Given the description of an element on the screen output the (x, y) to click on. 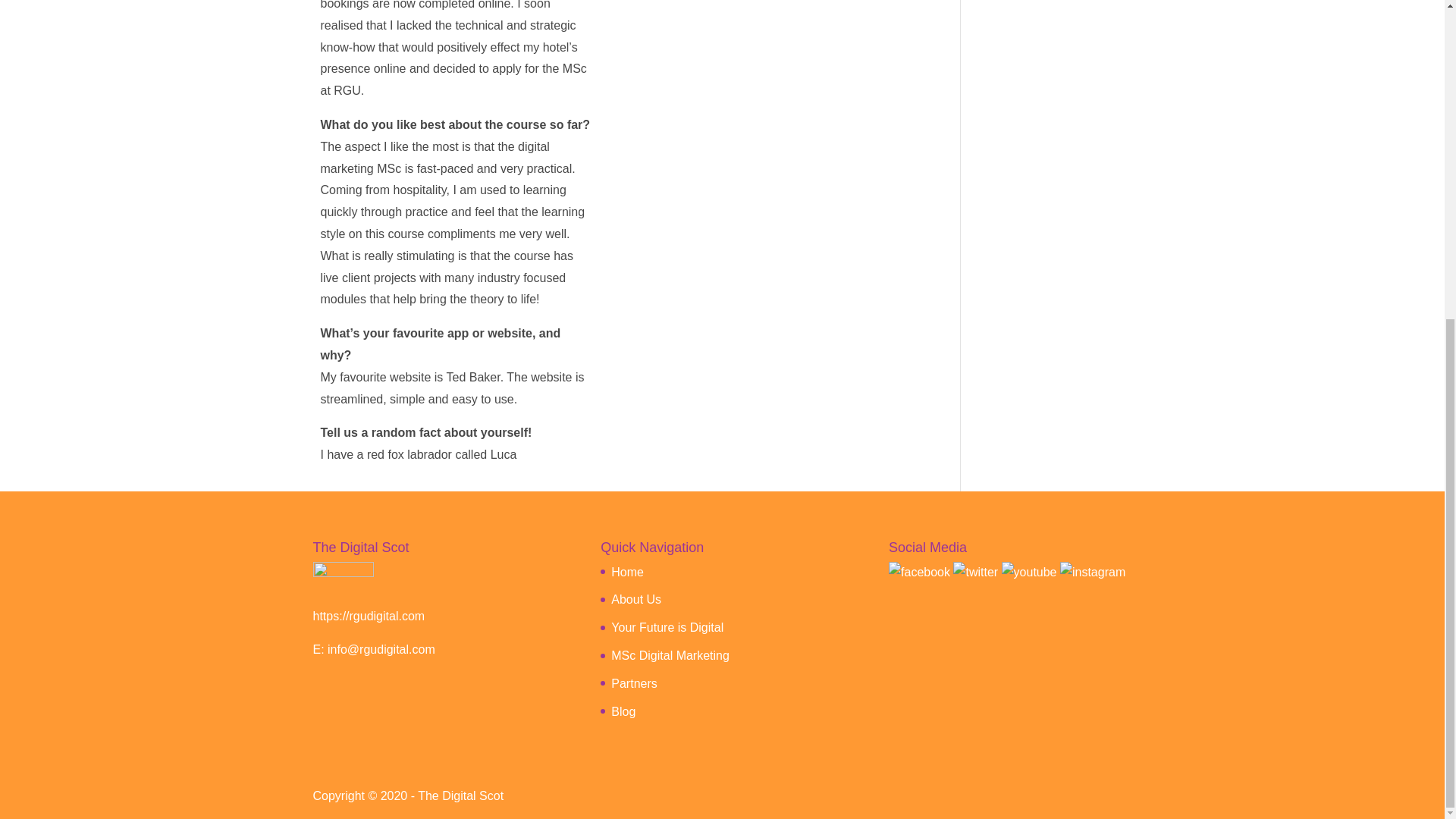
Your Future is Digital (667, 626)
MSc Digital Marketing (670, 655)
Blog (622, 711)
Partners (633, 683)
Home (627, 571)
About Us (636, 599)
